Given the description of an element on the screen output the (x, y) to click on. 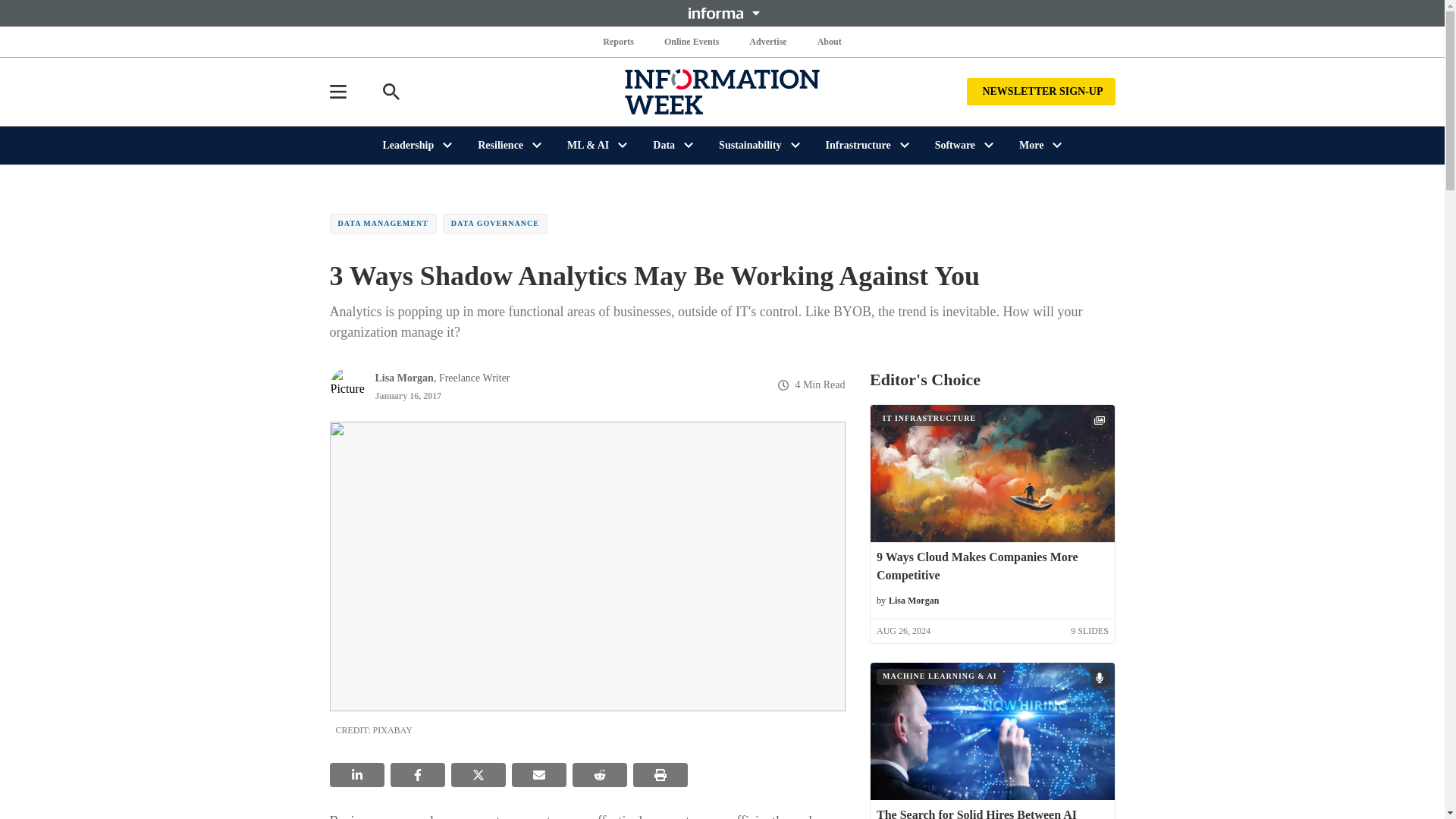
Online Events (691, 41)
Advertise (767, 41)
Reports (618, 41)
NEWSLETTER SIGN-UP (1040, 90)
InformationWeek (722, 91)
About (828, 41)
